Given the description of an element on the screen output the (x, y) to click on. 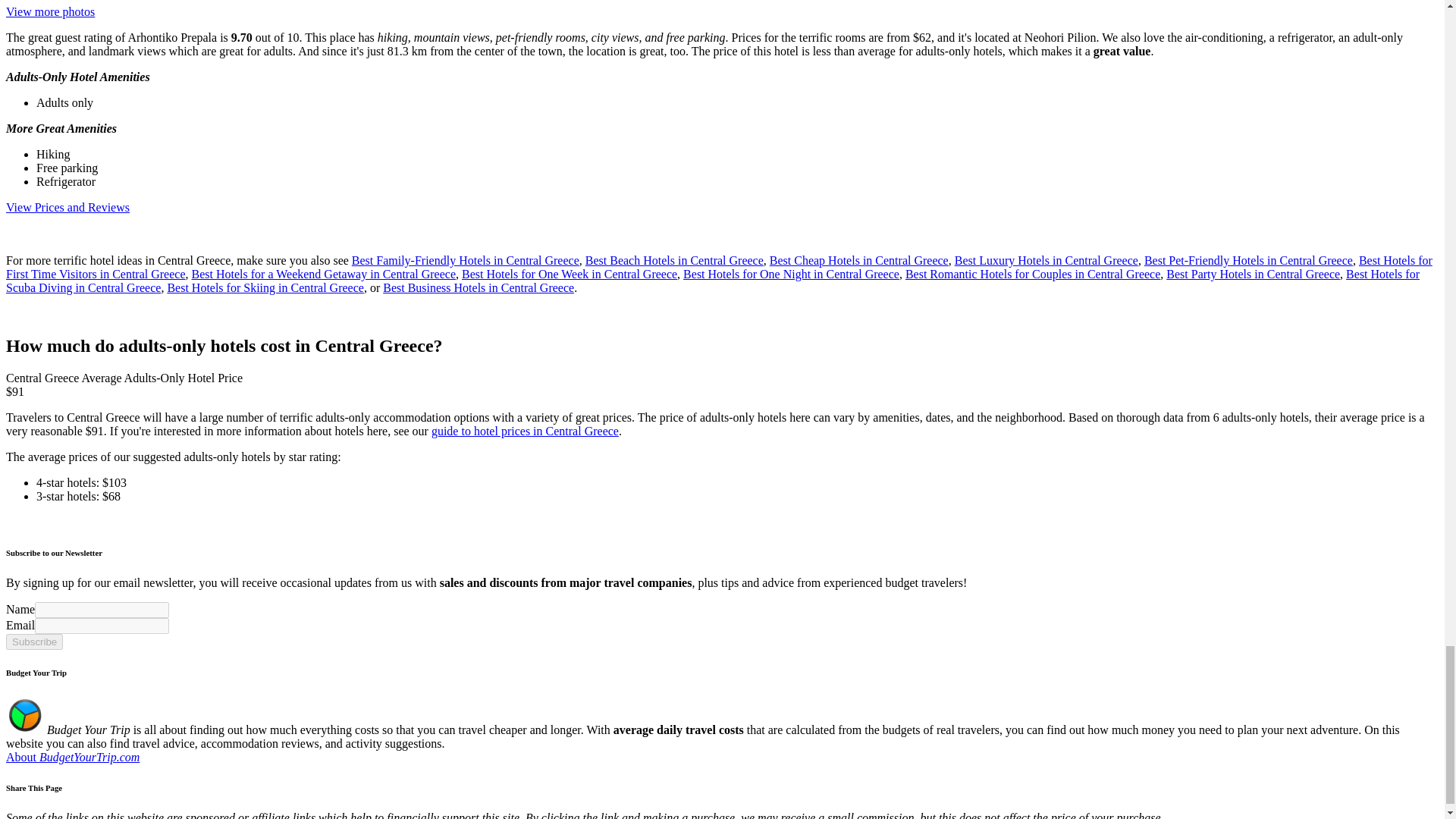
Subscribe (33, 641)
